Given the description of an element on the screen output the (x, y) to click on. 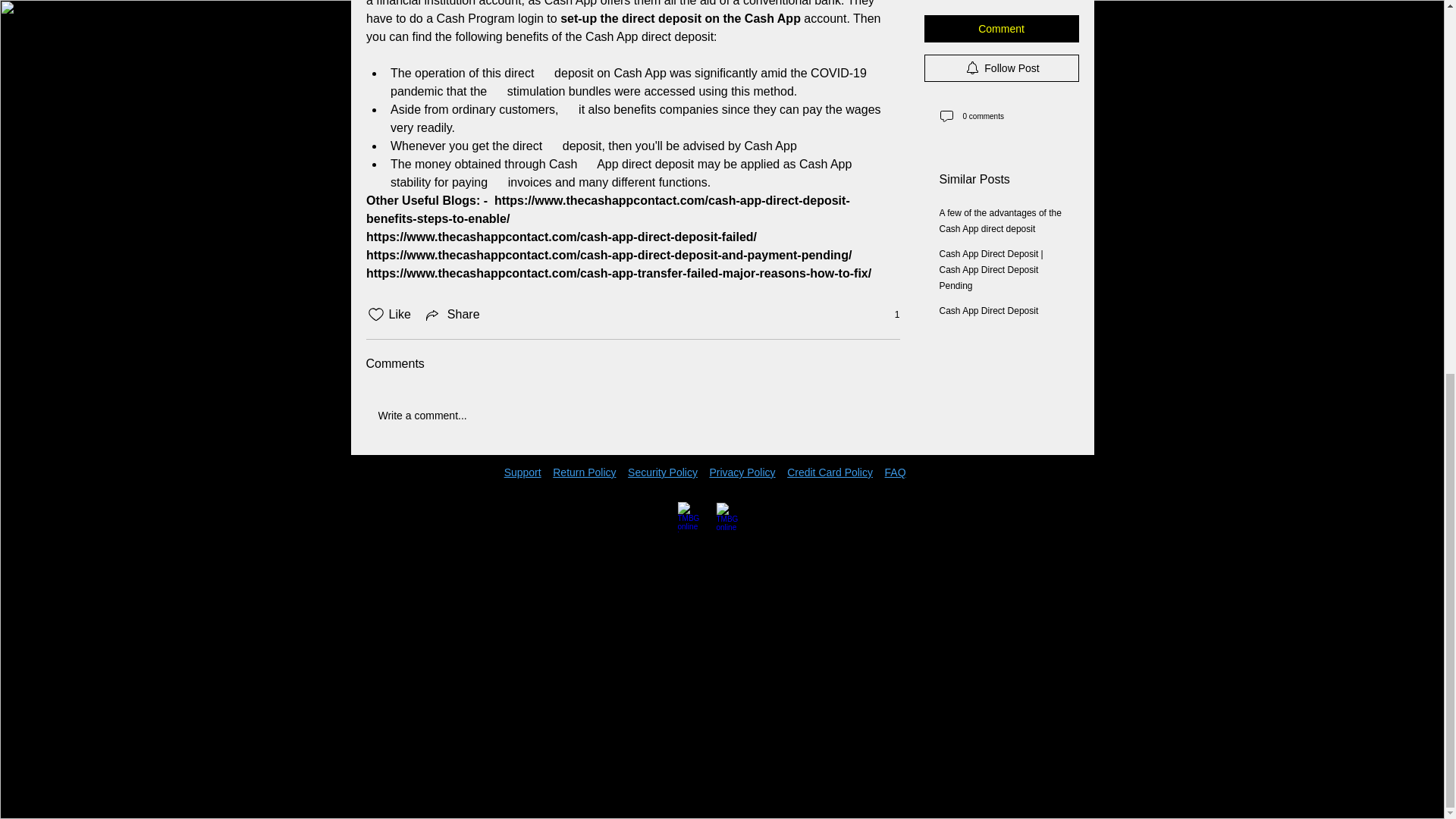
1 (888, 314)
Facebook Like (398, 494)
Support (522, 472)
TMBG Online Bass Guitar Lessons Facebook (692, 517)
Cash App Direct Deposit (988, 163)
set-up the direct deposit on the Cash App (680, 18)
TMBG Online Bass Guitar Lessons Twitter (730, 517)
Share (451, 314)
A few of the advantages of the Cash App direct deposit (1000, 72)
Write a comment... (632, 414)
